Given the description of an element on the screen output the (x, y) to click on. 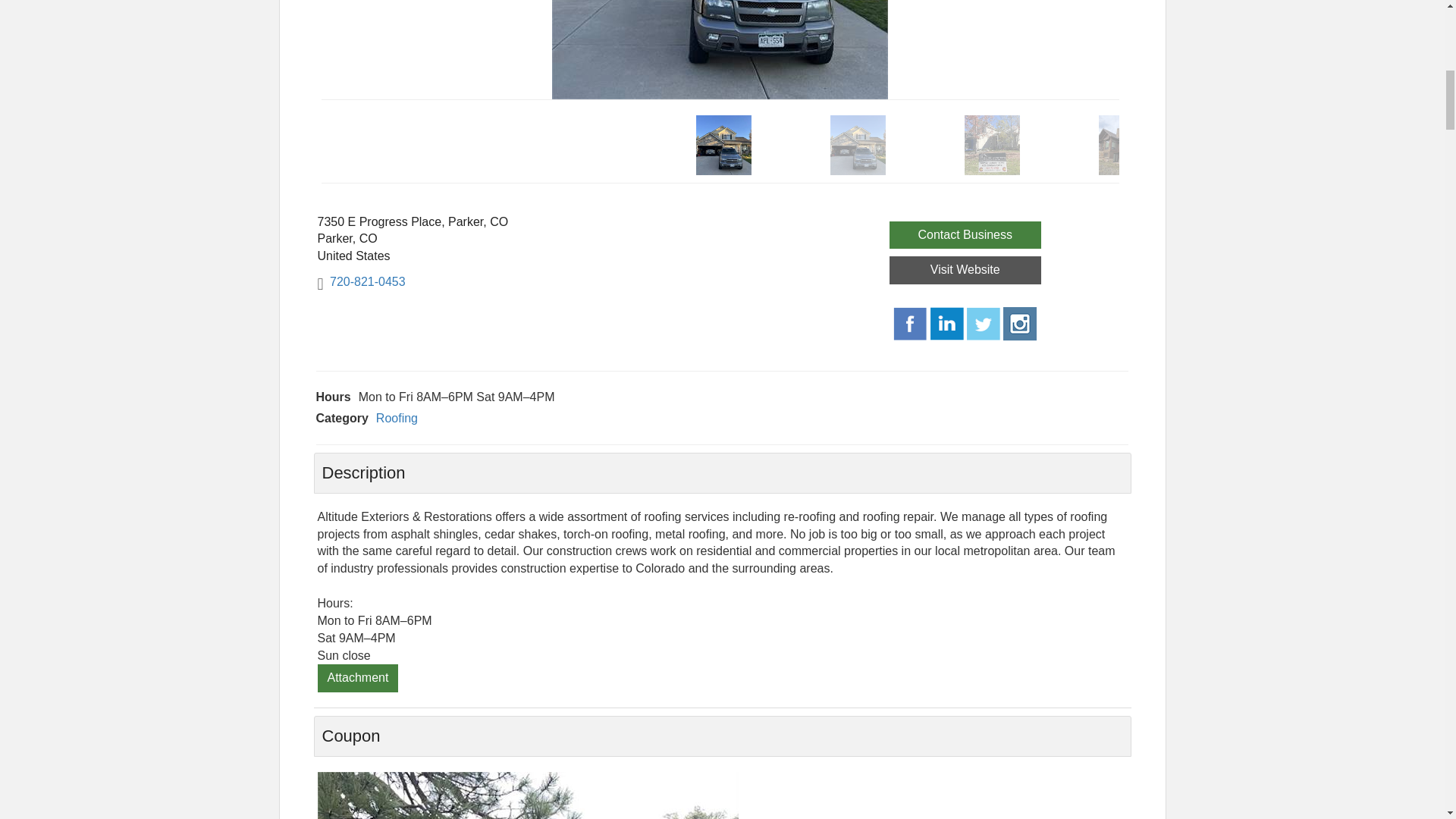
LinkedIn (946, 323)
Facebook (909, 323)
Facebook (909, 323)
Instagram (1019, 323)
Twitter (983, 323)
LinkedIn (946, 323)
Instagram (1019, 323)
Coupon (527, 795)
Twitter (983, 323)
